Given the description of an element on the screen output the (x, y) to click on. 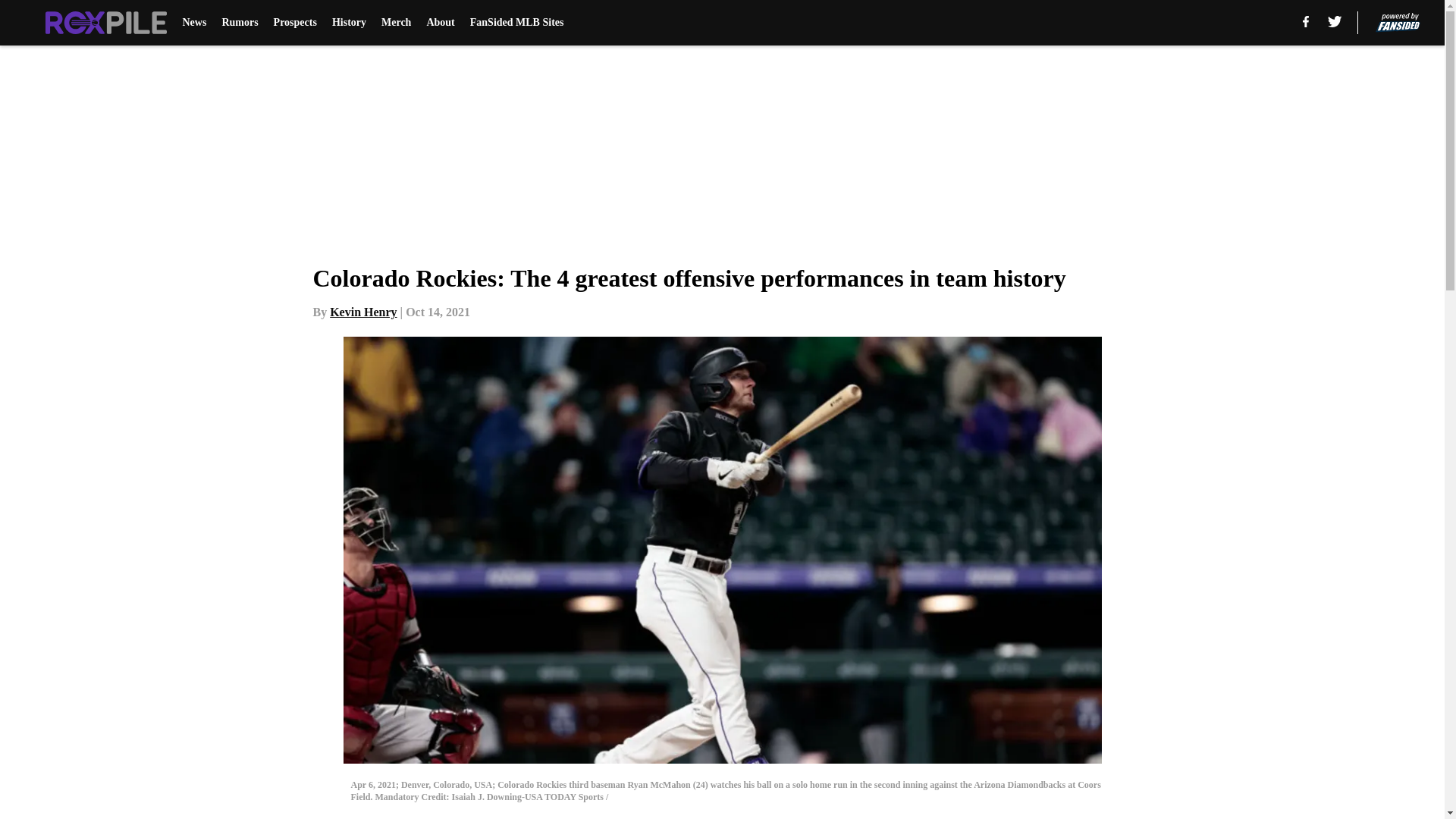
Prospects (295, 22)
History (348, 22)
Kevin Henry (363, 311)
News (194, 22)
Merch (395, 22)
Rumors (239, 22)
About (440, 22)
FanSided MLB Sites (517, 22)
